Given the description of an element on the screen output the (x, y) to click on. 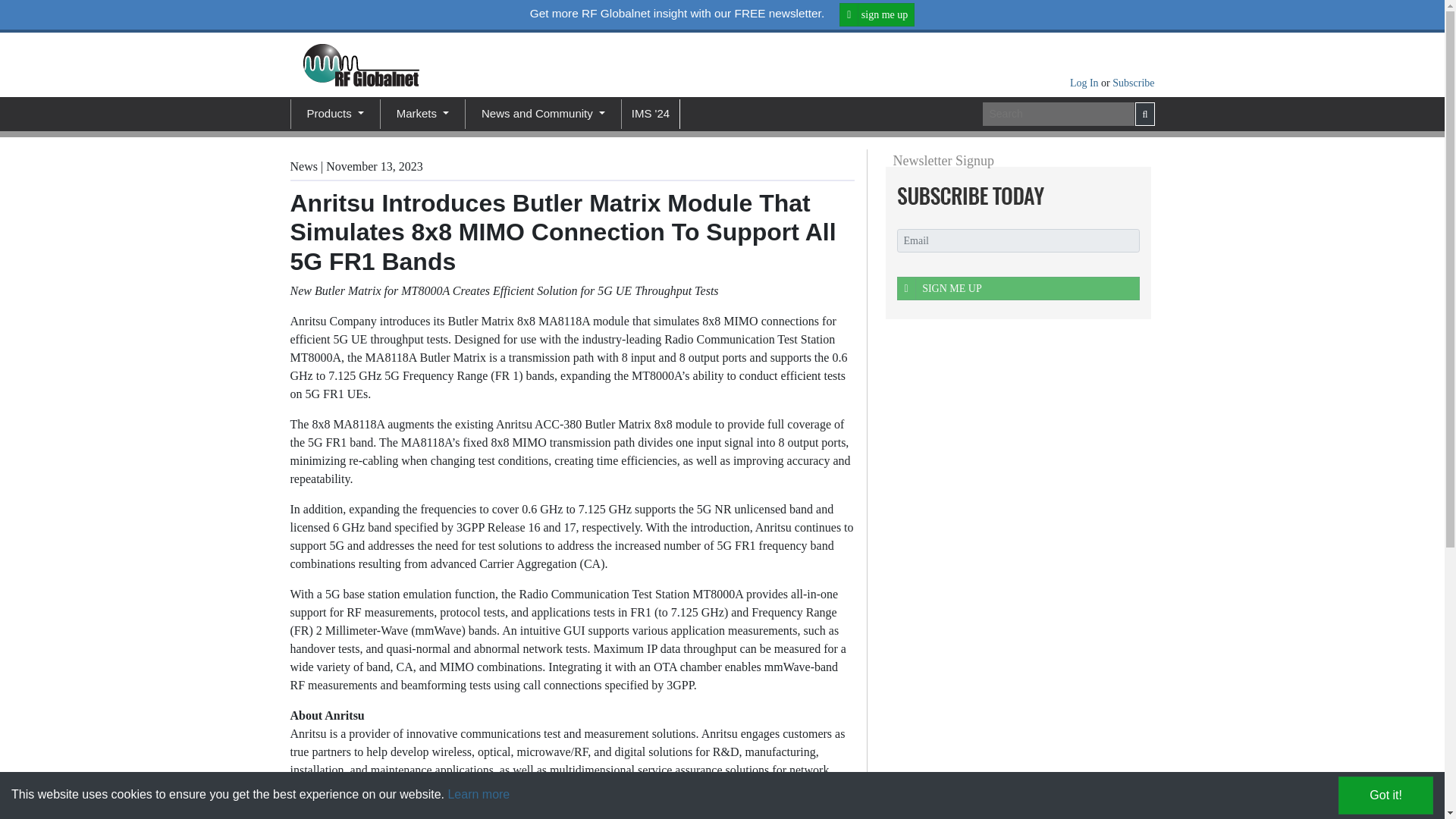
Log In (1085, 82)
Print (679, 163)
sign me up (877, 14)
Subscribe (1133, 82)
Products (334, 113)
Newsletter Signup (1013, 195)
